Given the description of an element on the screen output the (x, y) to click on. 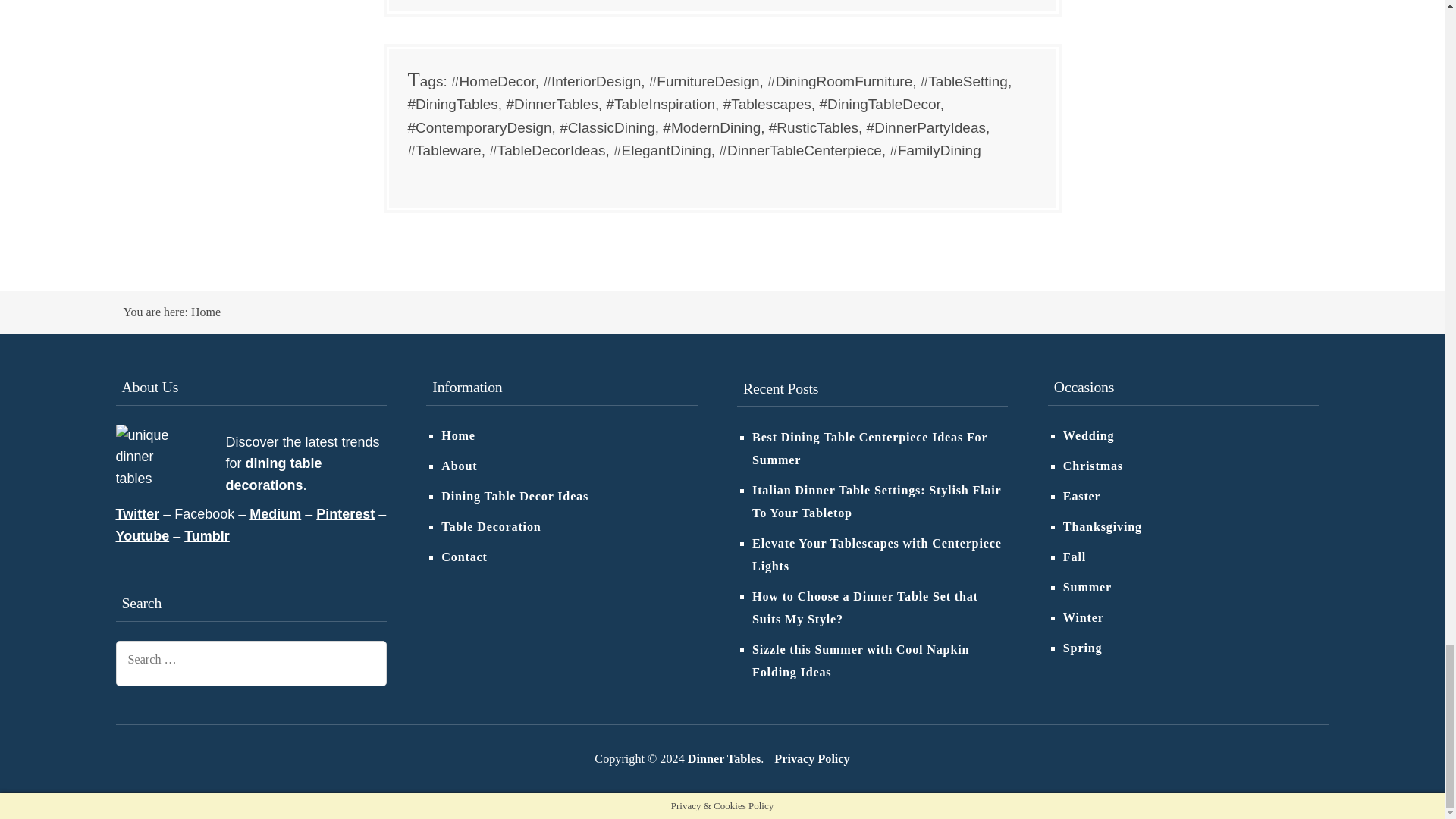
Search (363, 663)
Search (363, 663)
